Given the description of an element on the screen output the (x, y) to click on. 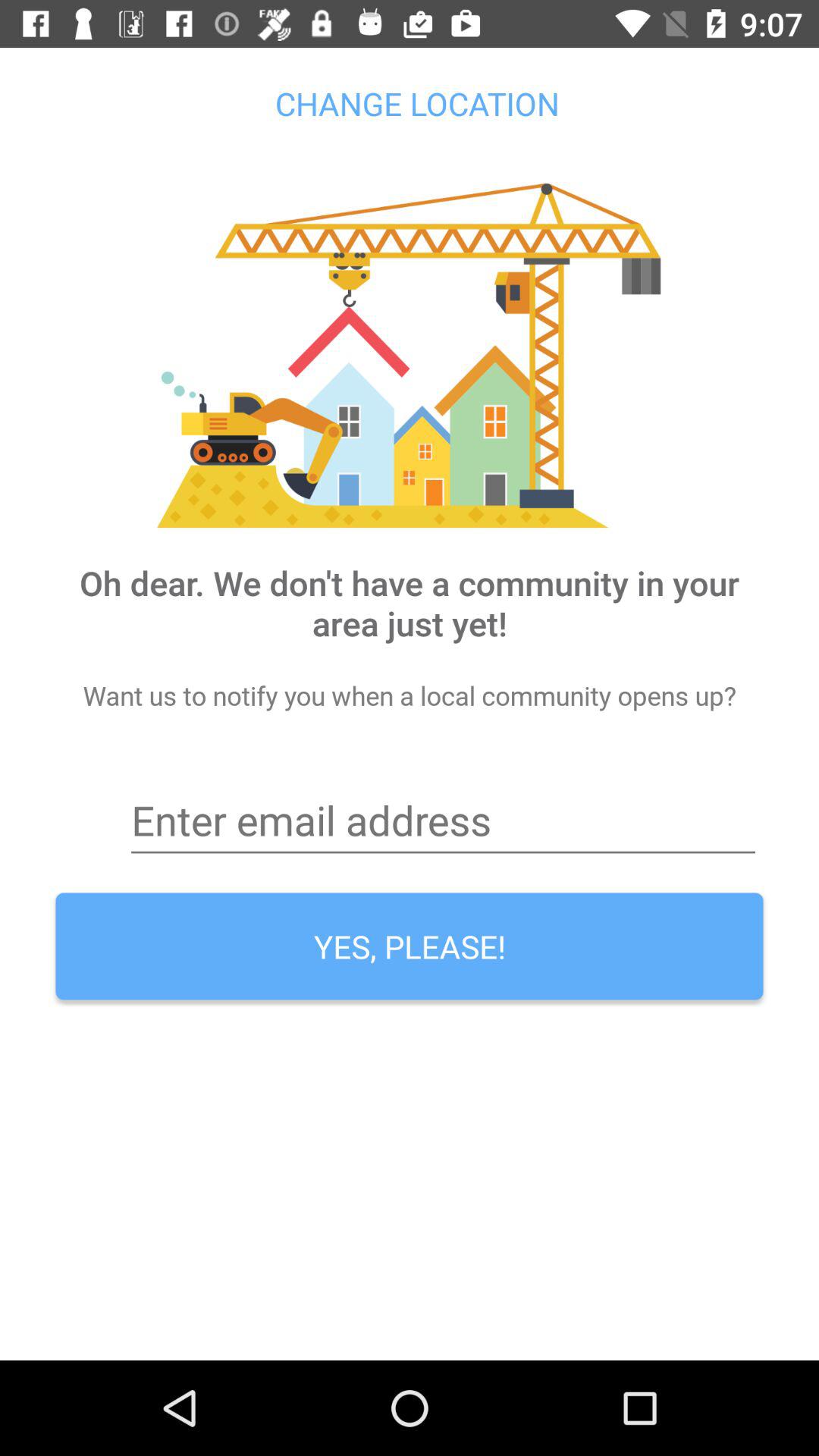
select the yes, please! item (409, 945)
